Given the description of an element on the screen output the (x, y) to click on. 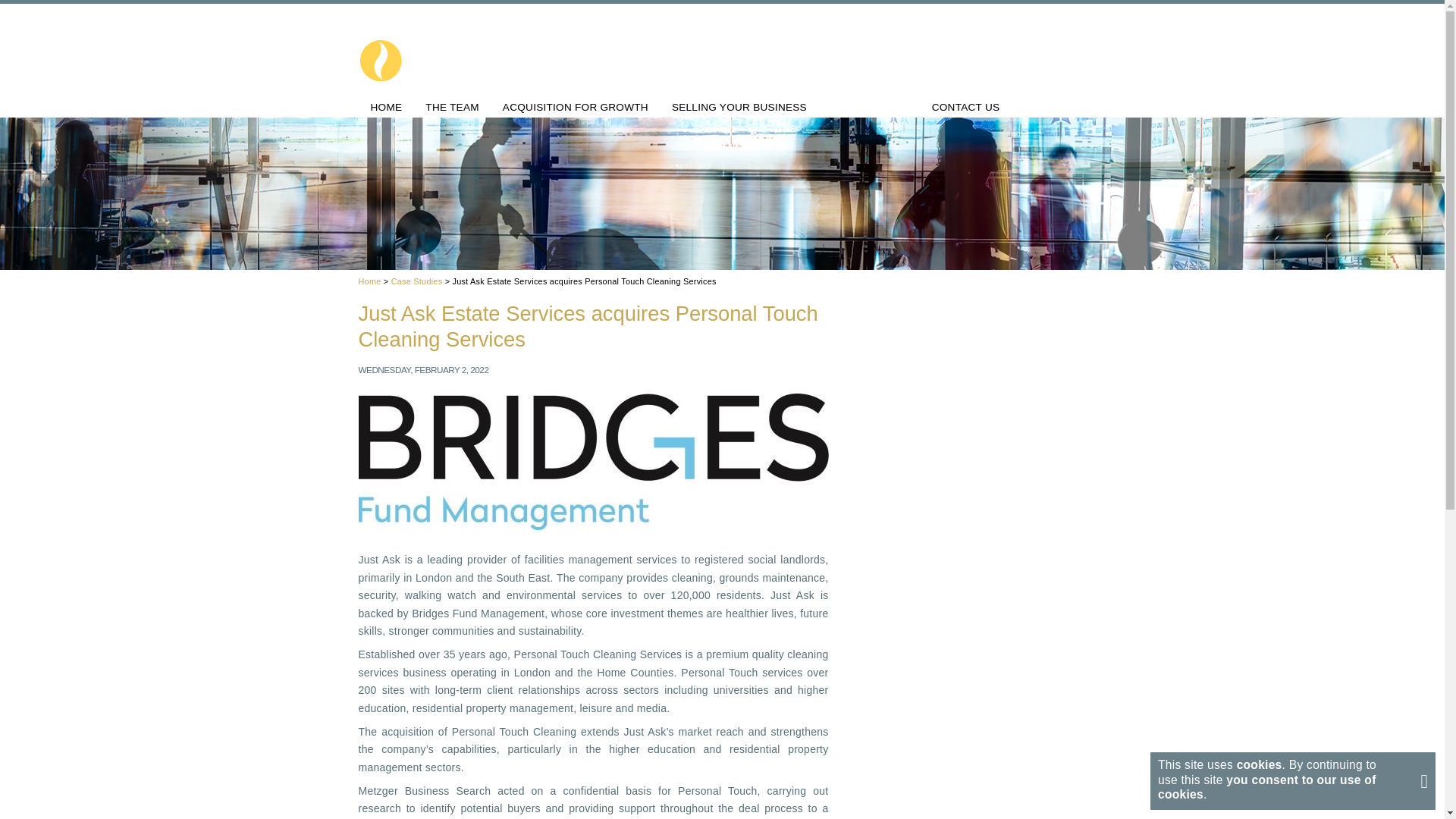
Case Studies (416, 280)
ACQUISITION FOR GROWTH (574, 107)
THE TEAM (452, 107)
CASE STUDIES (868, 107)
CONTACT US (965, 107)
HOME (387, 107)
Home (369, 280)
SELLING YOUR BUSINESS (738, 107)
